Given the description of an element on the screen output the (x, y) to click on. 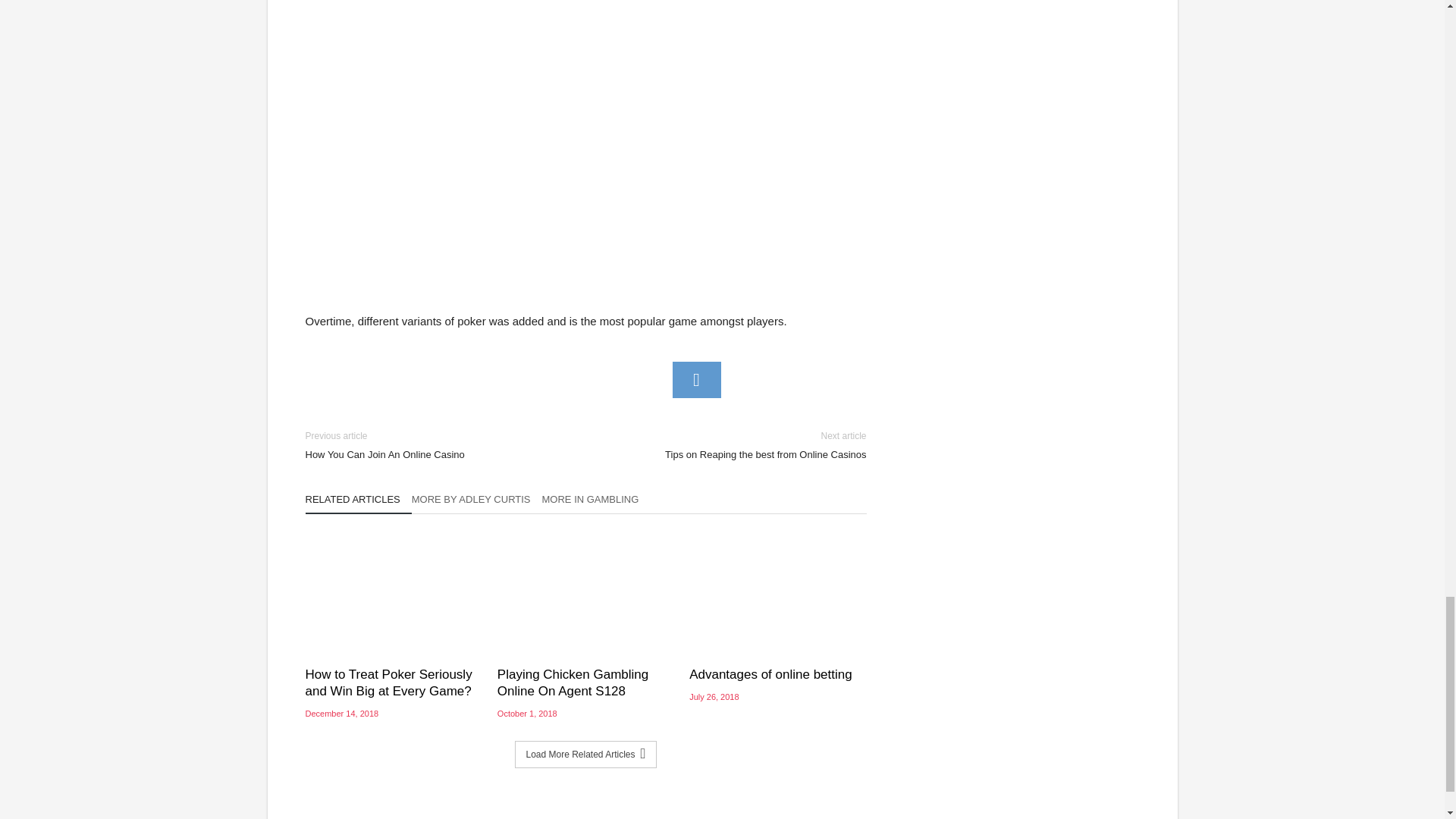
Share on Reddit (695, 379)
RELATED ARTICLES (357, 503)
reddit (695, 379)
MORE IN GAMBLING (595, 503)
MORE BY ADLEY CURTIS (476, 503)
How to Treat Poker Seriously and Win Big at Every Game? (737, 445)
